Given the description of an element on the screen output the (x, y) to click on. 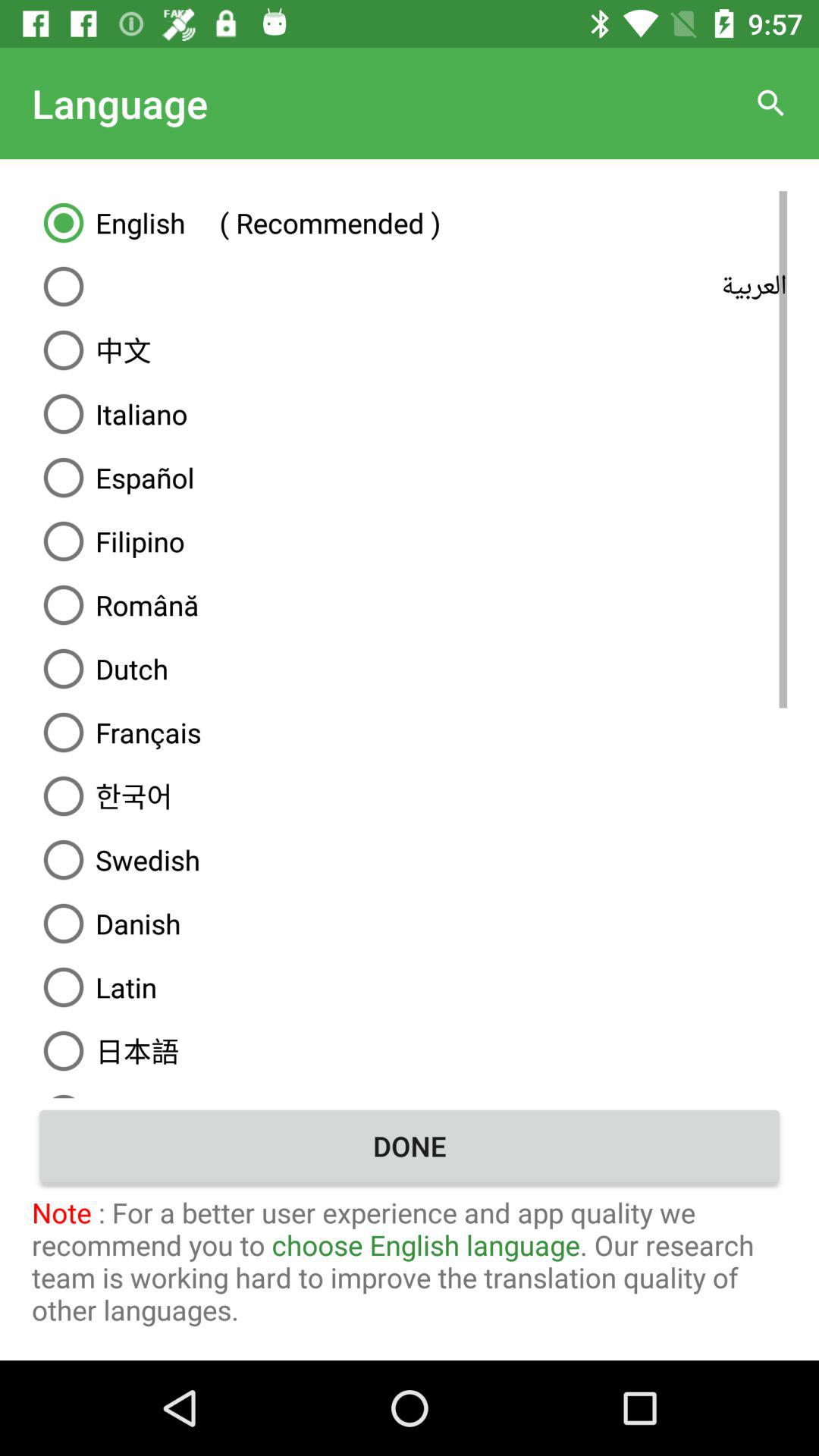
choose the swedish icon (409, 859)
